Given the description of an element on the screen output the (x, y) to click on. 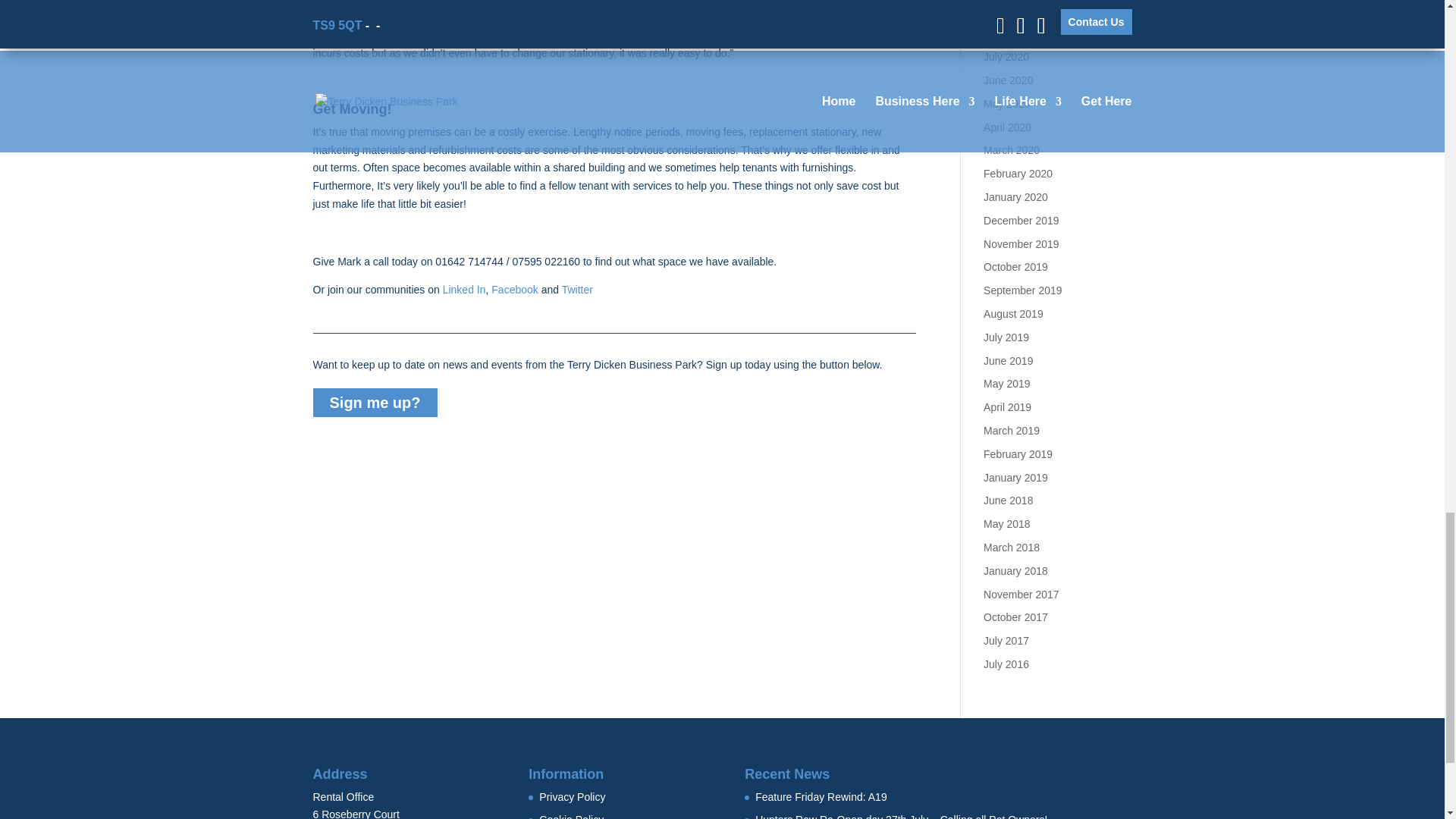
Sign me up? (374, 402)
Facebook (514, 289)
Twitter (577, 289)
Linked In (464, 289)
